Given the description of an element on the screen output the (x, y) to click on. 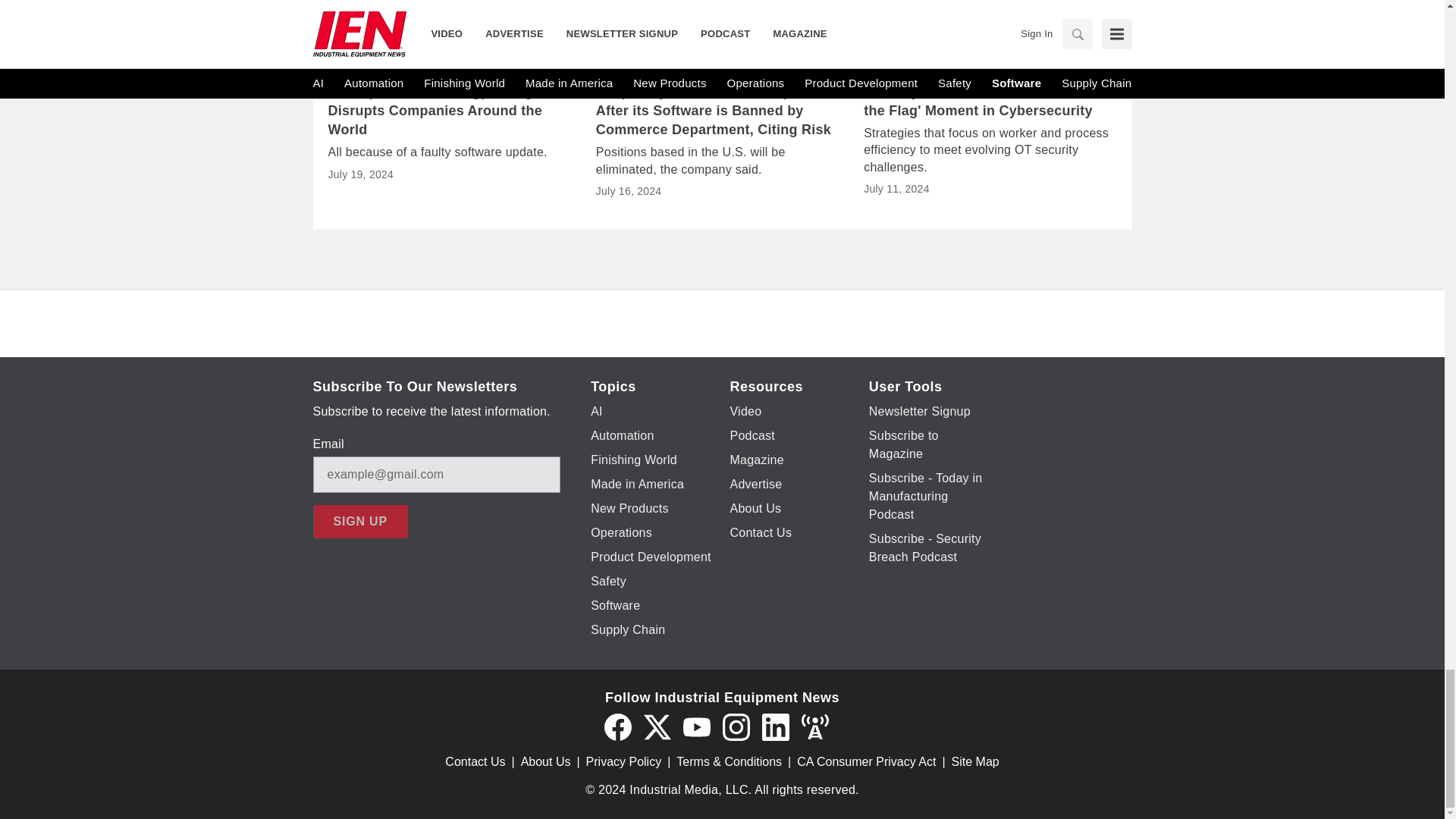
YouTube icon (696, 727)
LinkedIn icon (775, 727)
Facebook icon (617, 727)
Instagram icon (735, 727)
Twitter X icon (656, 727)
